Given the description of an element on the screen output the (x, y) to click on. 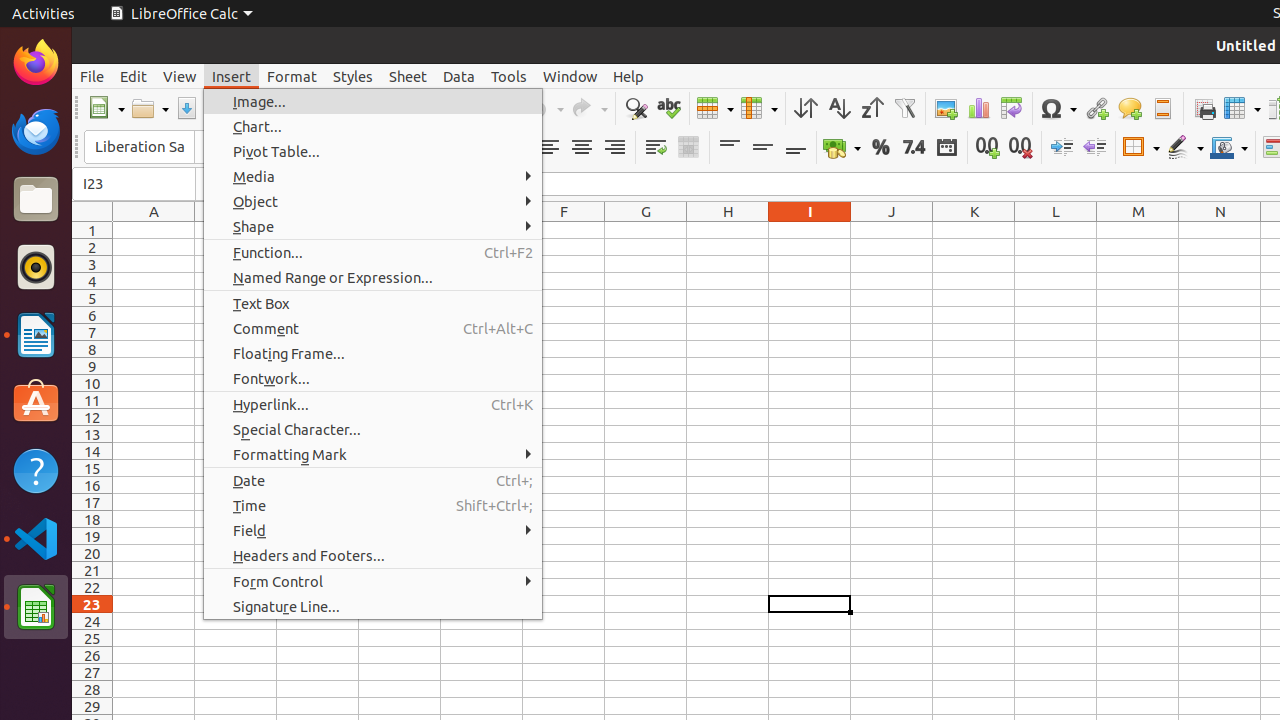
Comment Element type: push-button (1129, 108)
Number Element type: push-button (913, 147)
View Element type: menu (179, 76)
LibreOffice Calc Element type: push-button (36, 607)
Edit Element type: menu (133, 76)
